Given the description of an element on the screen output the (x, y) to click on. 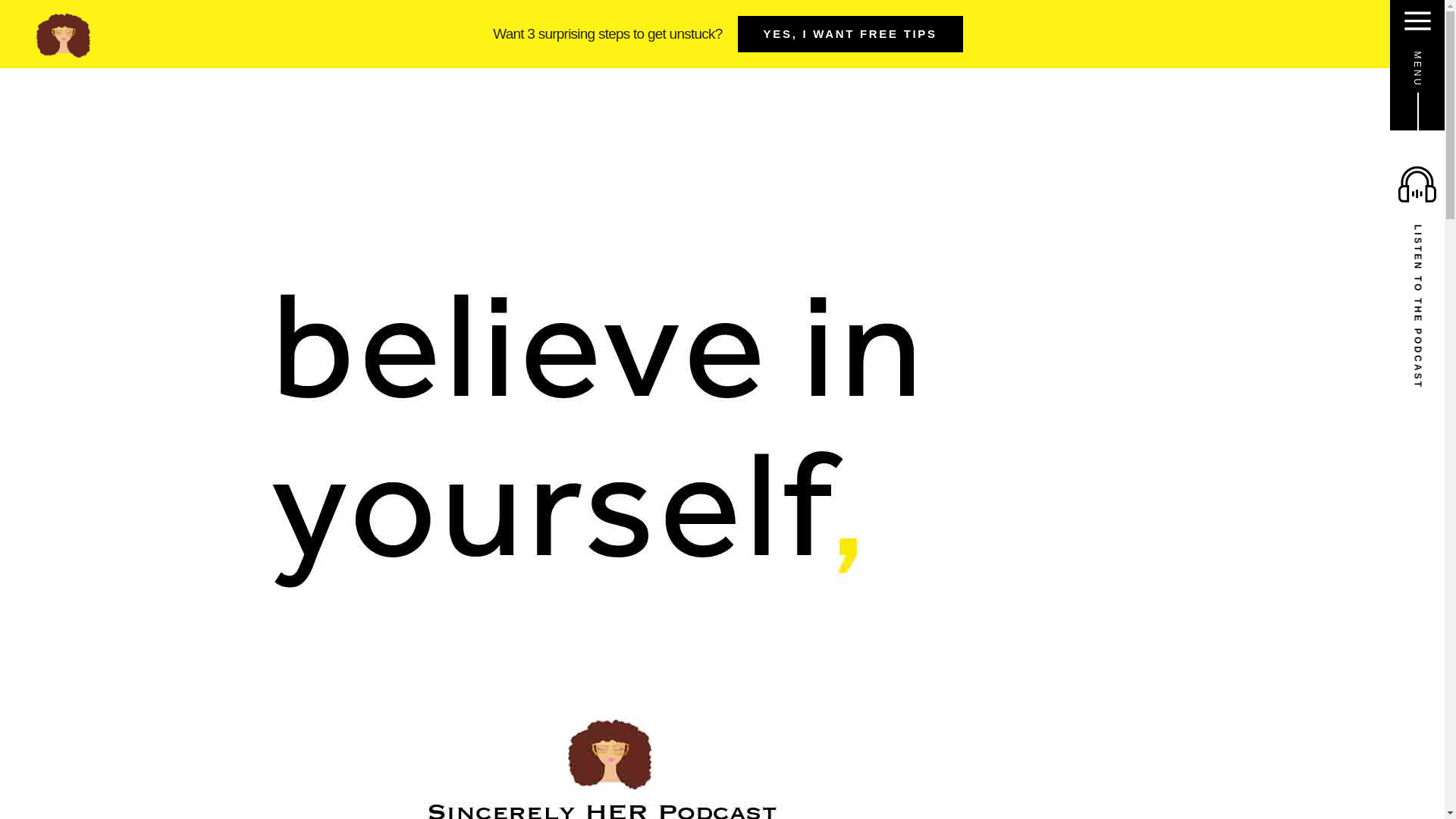
Yes, I want in (933, 501)
YES, I WANT FREE TIPS (850, 33)
Yes, I want free tips (933, 437)
